Given the description of an element on the screen output the (x, y) to click on. 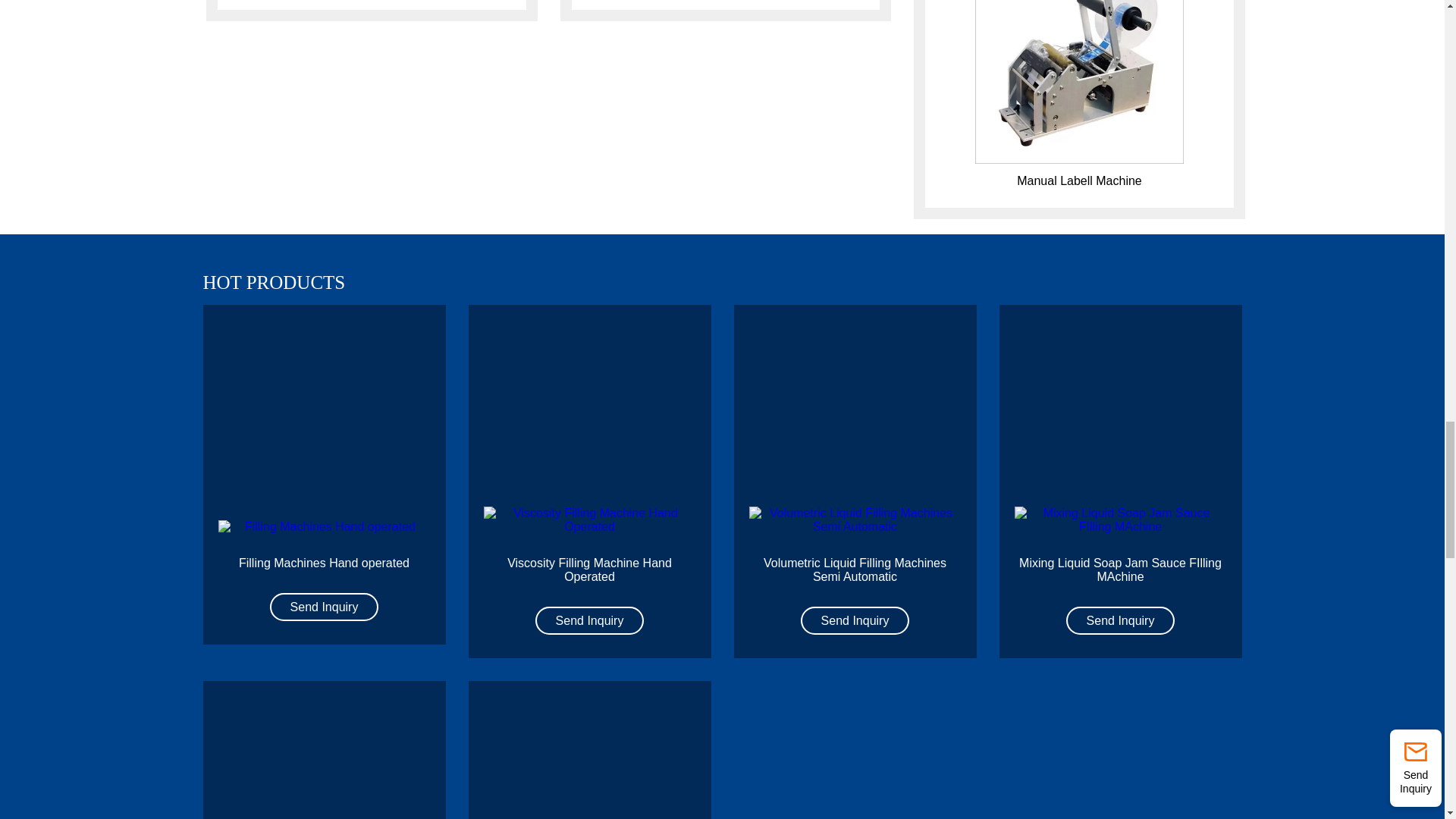
Viscosity Filling Machine Hand Operated (589, 519)
Filling Machines Hand operated (323, 562)
Volumetric Liquid Filling Machines Semi Automatic (854, 519)
Send Inquiry (855, 620)
Send Inquiry (323, 606)
Send Inquiry (590, 620)
Filling  Machines Hand operated (324, 526)
Manual Labell Machine (1078, 180)
Send Inquiry (1119, 620)
Volumetric Liquid Filling Machines Semi Automatic (854, 569)
